Given the description of an element on the screen output the (x, y) to click on. 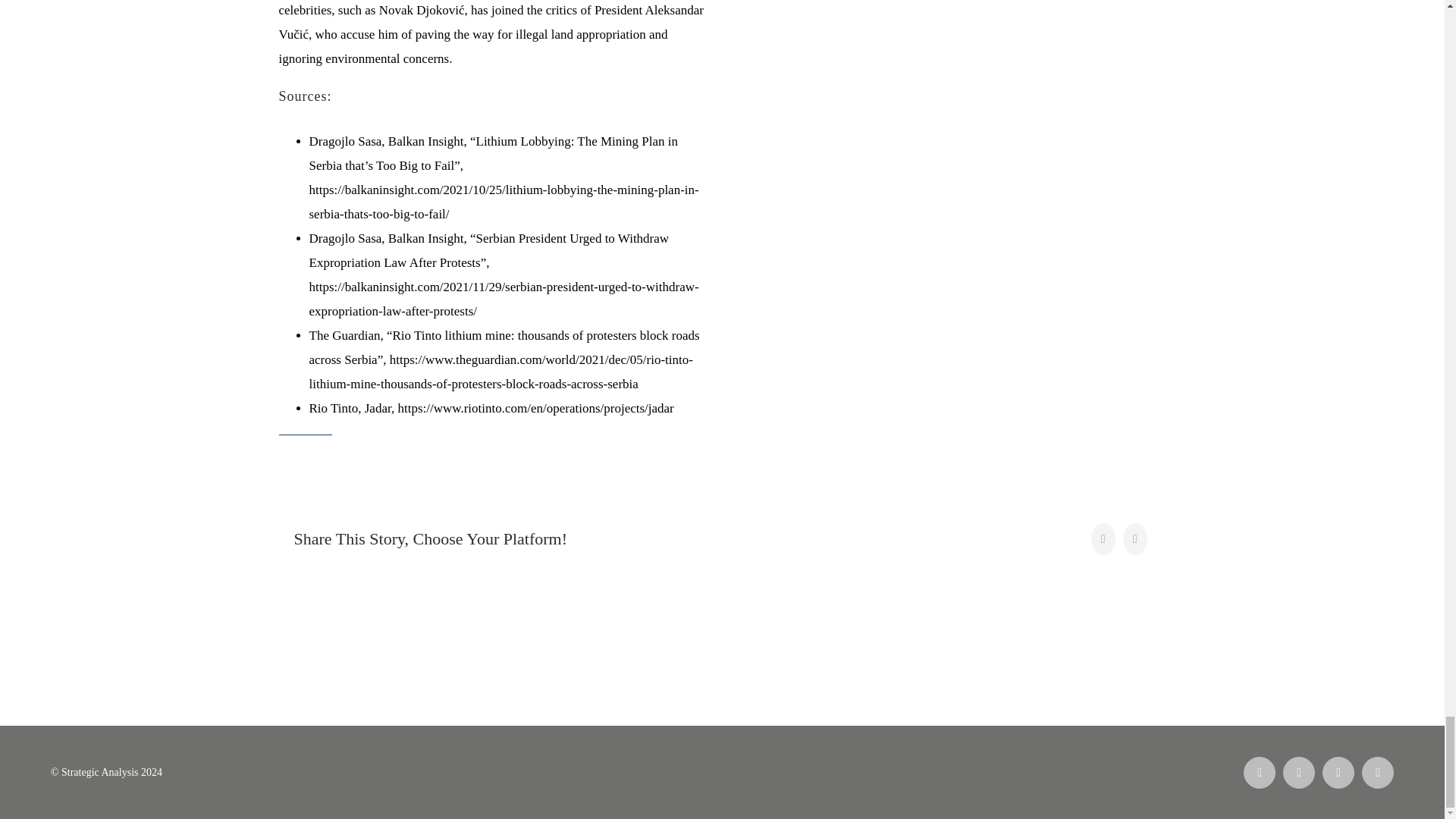
LinkedIn (1338, 772)
Facebook (1259, 772)
Twitter (1298, 772)
